Given the description of an element on the screen output the (x, y) to click on. 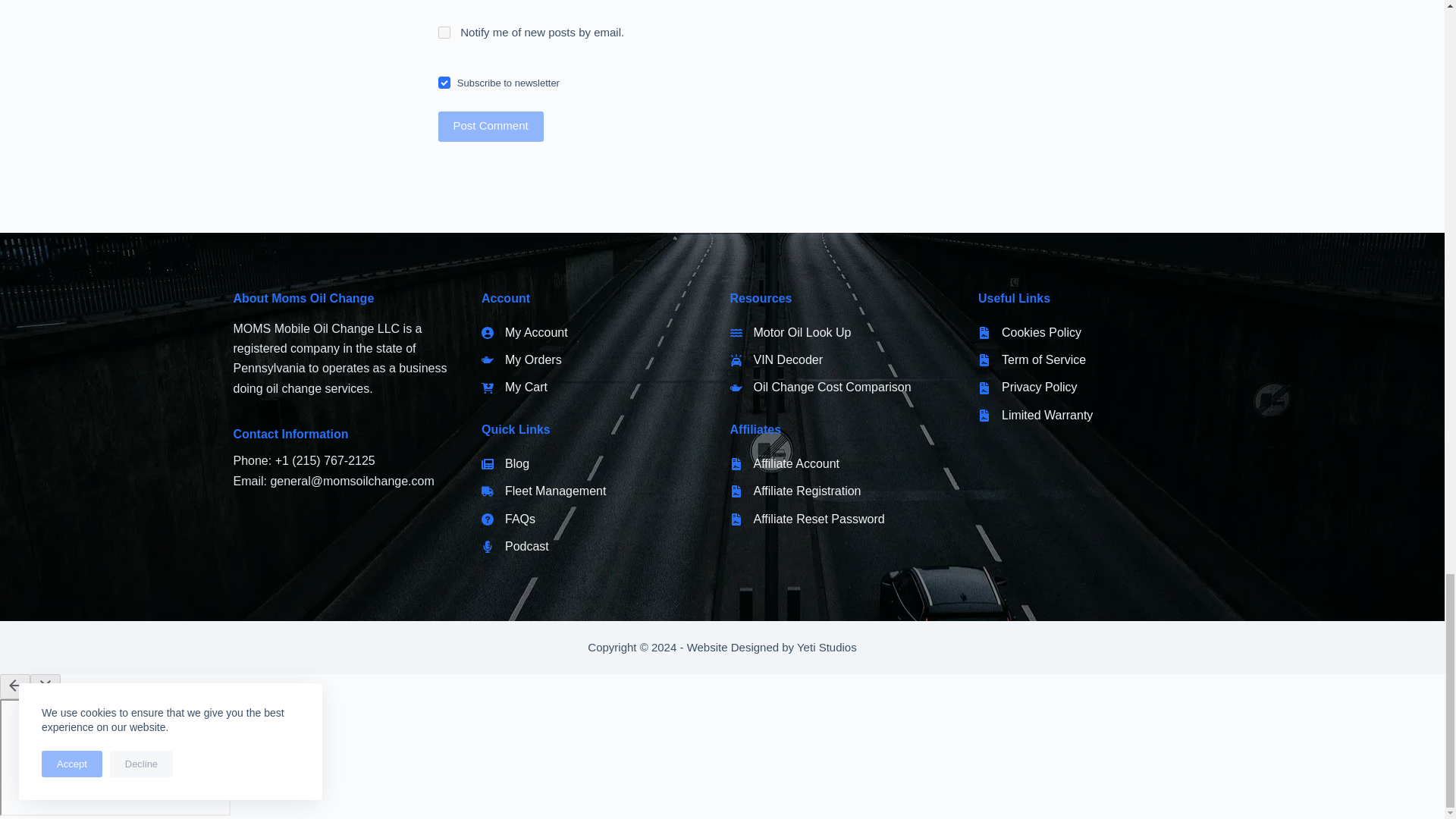
yes (443, 82)
Designed by Yeti Studios (772, 646)
subscribe (443, 32)
